Given the description of an element on the screen output the (x, y) to click on. 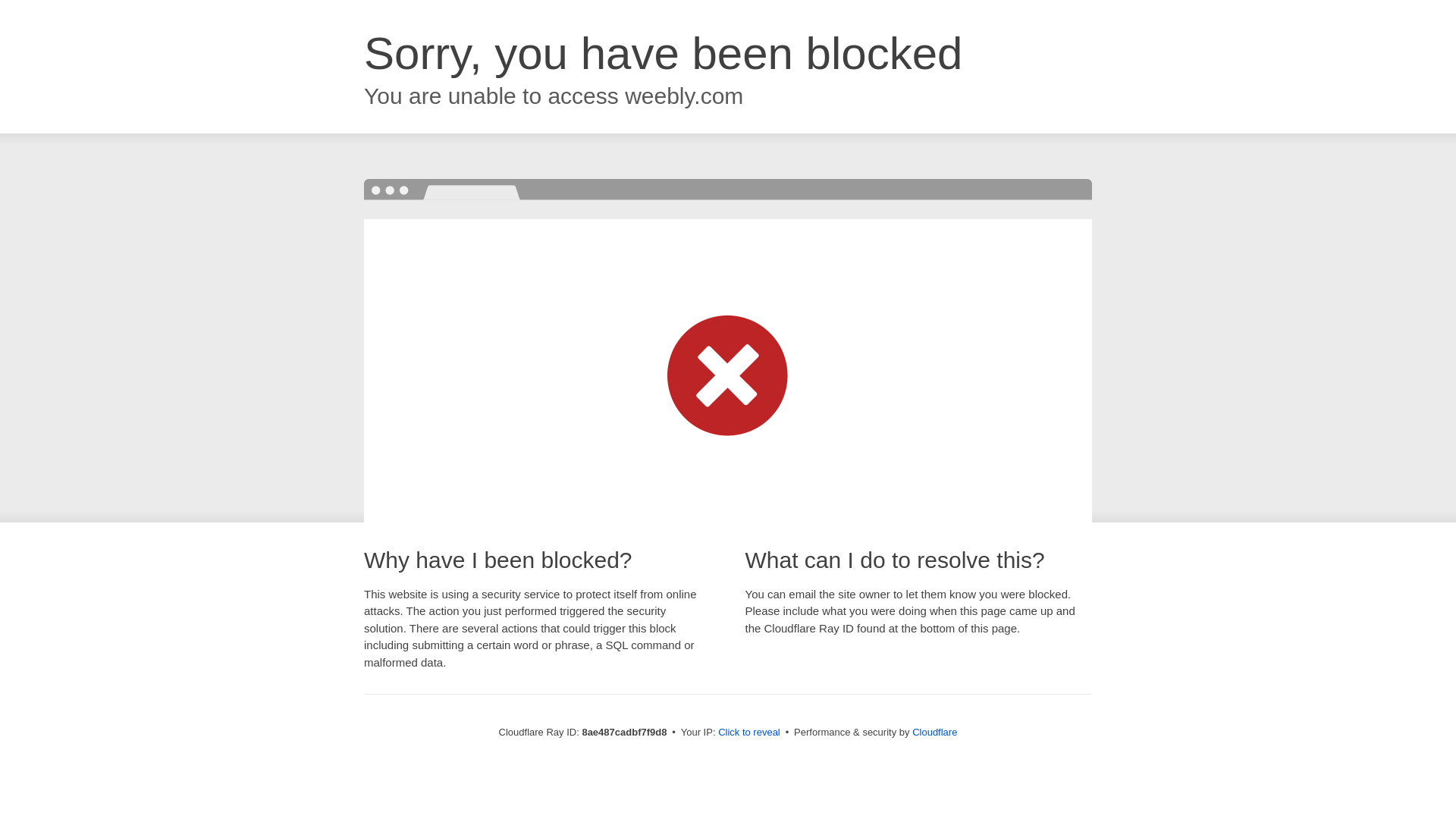
Cloudflare (934, 731)
Click to reveal (748, 732)
